Given the description of an element on the screen output the (x, y) to click on. 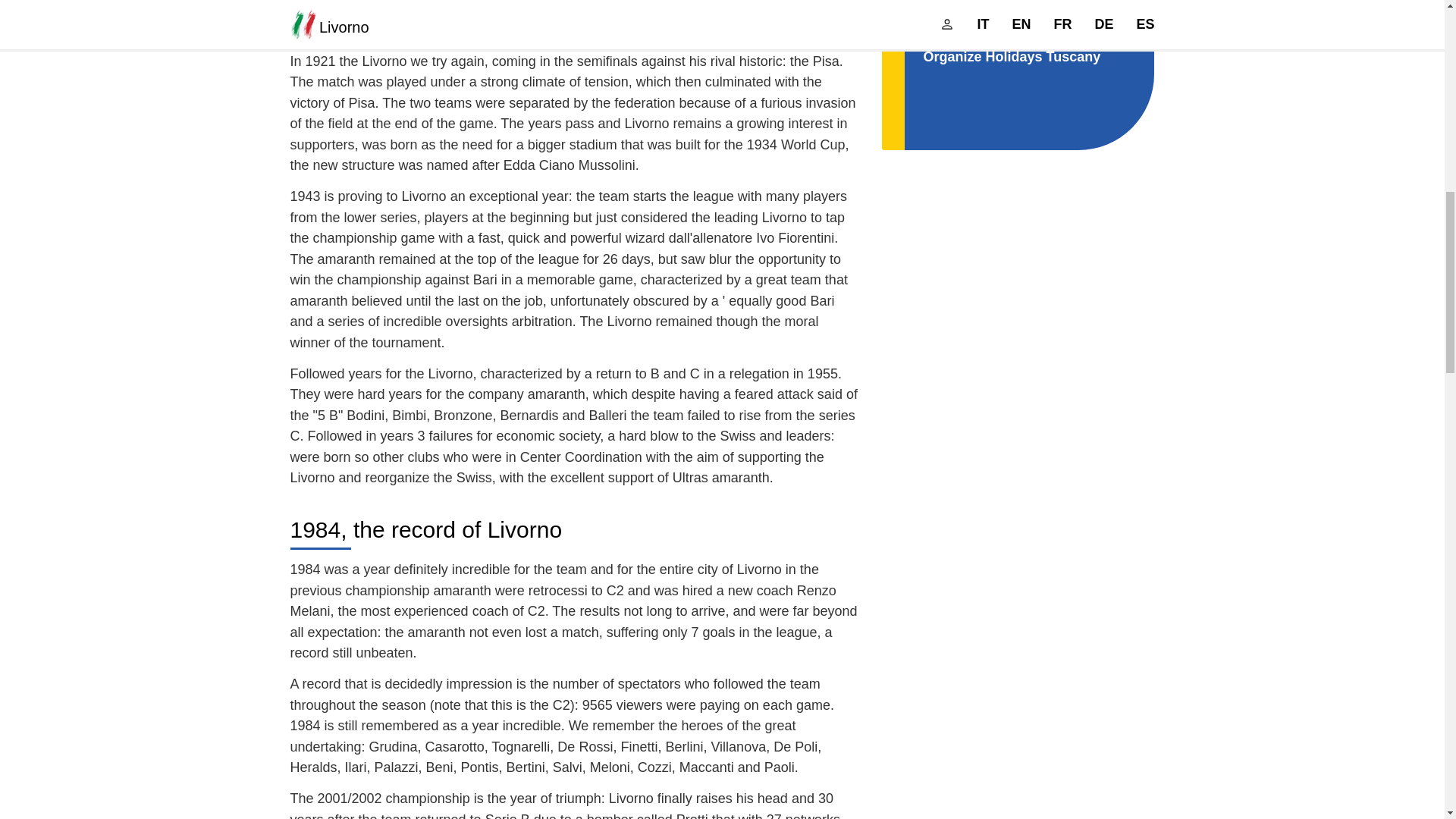
Holidays in Carrara (985, 28)
Organize Holidays Tuscany (1011, 56)
Holidays in Carrara (985, 28)
Holidays in Prato (979, 3)
Holidays in Prato (979, 3)
